Given the description of an element on the screen output the (x, y) to click on. 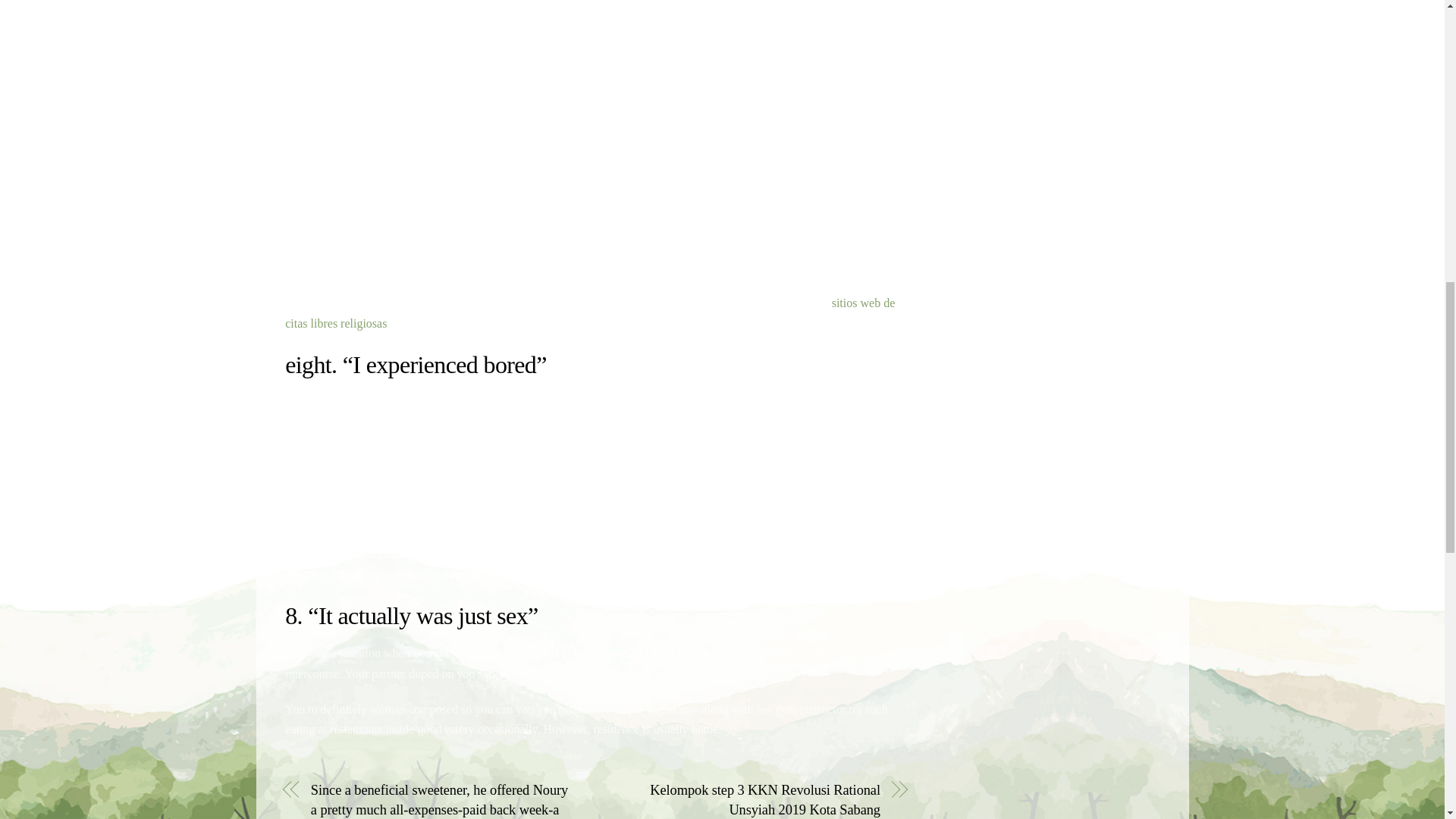
sitios web de citas libres religiosas (590, 312)
